Given the description of an element on the screen output the (x, y) to click on. 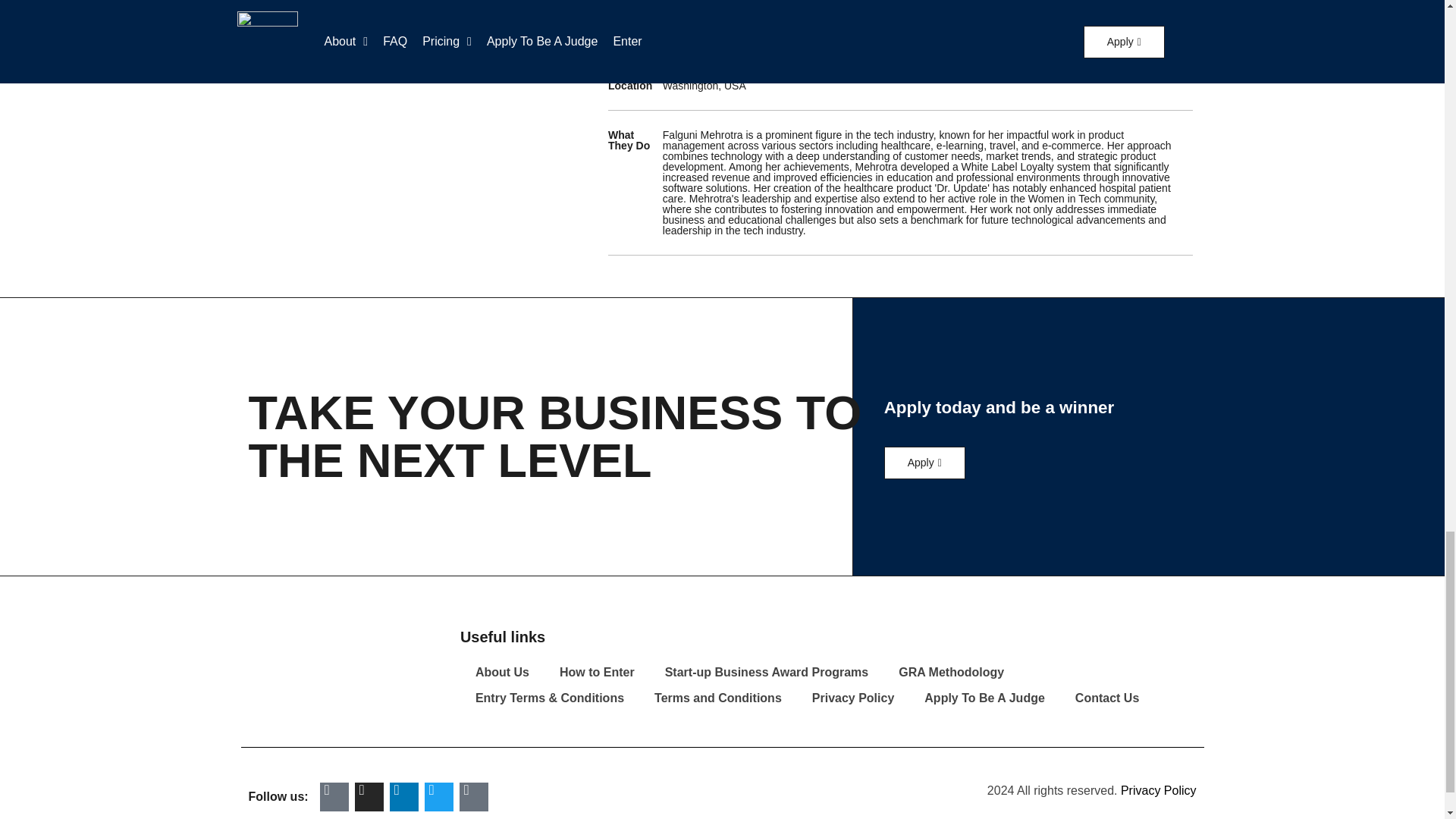
Apply (924, 462)
